Given the description of an element on the screen output the (x, y) to click on. 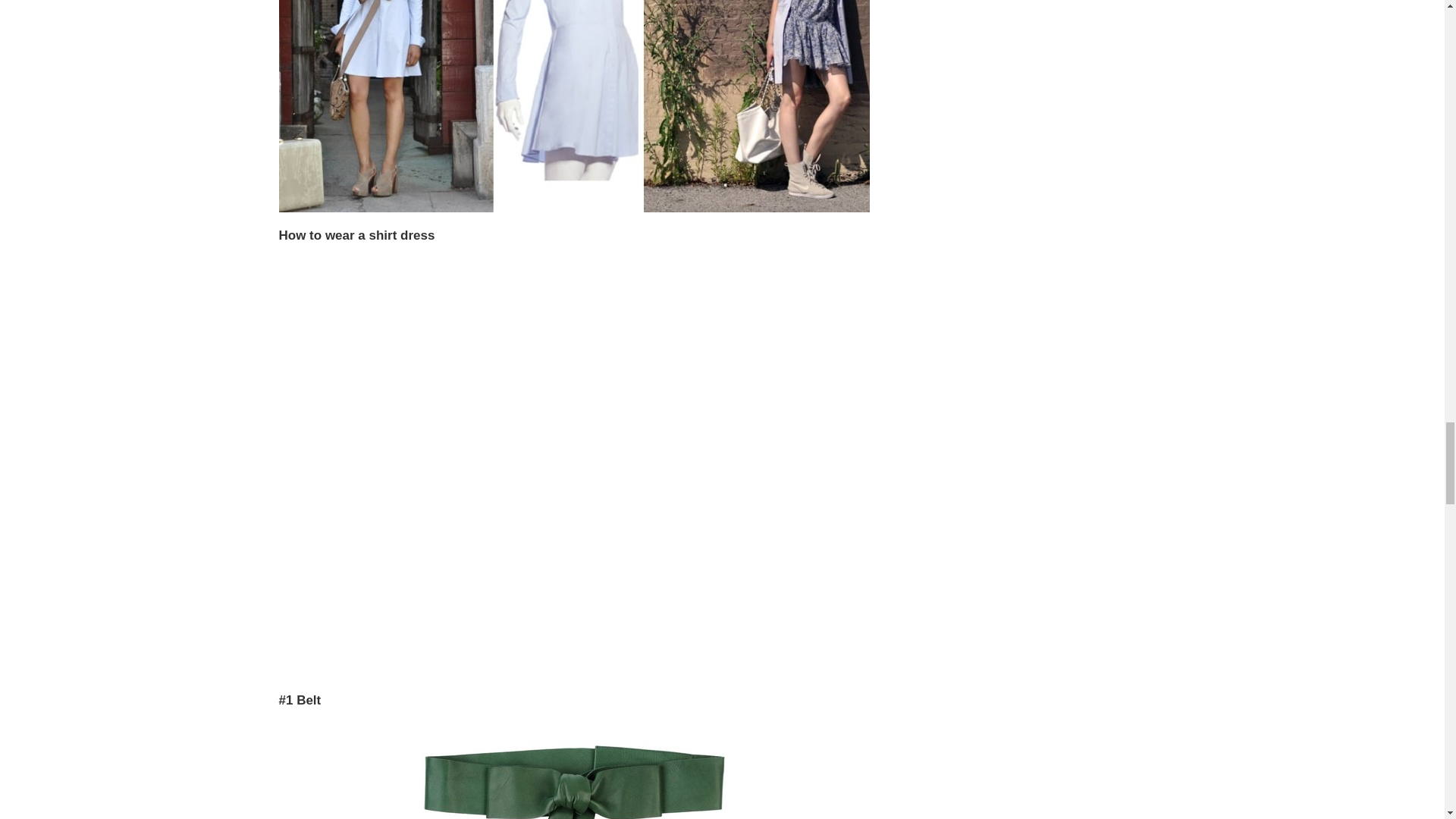
Ermanno Scervino Belt (573, 773)
